Given the description of an element on the screen output the (x, y) to click on. 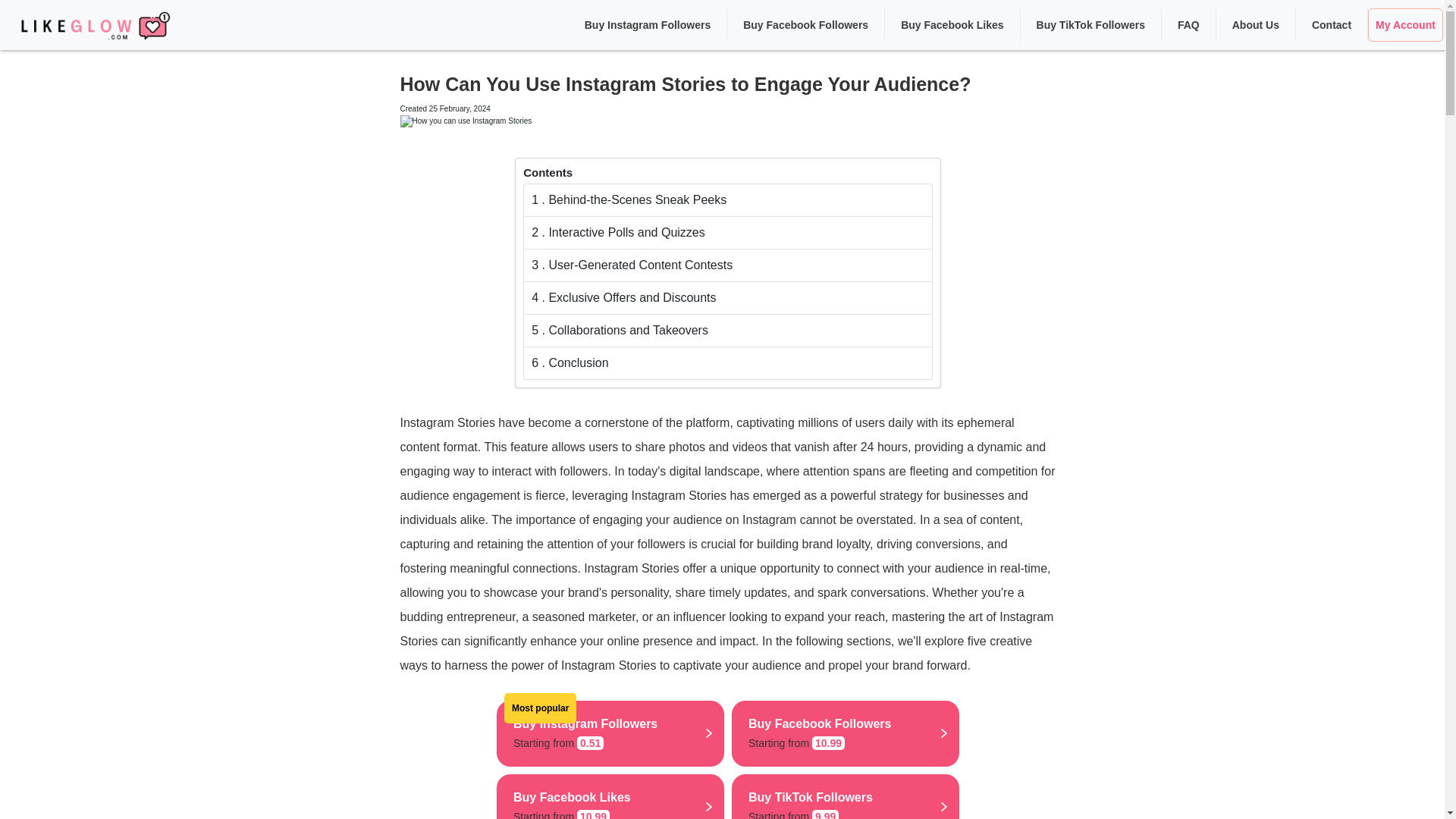
6 . Conclusion (727, 363)
Buy TikTok Followers (1090, 24)
Buy Facebook Followers (805, 24)
Buy Instagram Followers (647, 24)
Contact (1331, 24)
FAQ (1188, 24)
4 . Exclusive Offers and Discounts (845, 796)
5 . Collaborations and Takeovers (845, 733)
